Given the description of an element on the screen output the (x, y) to click on. 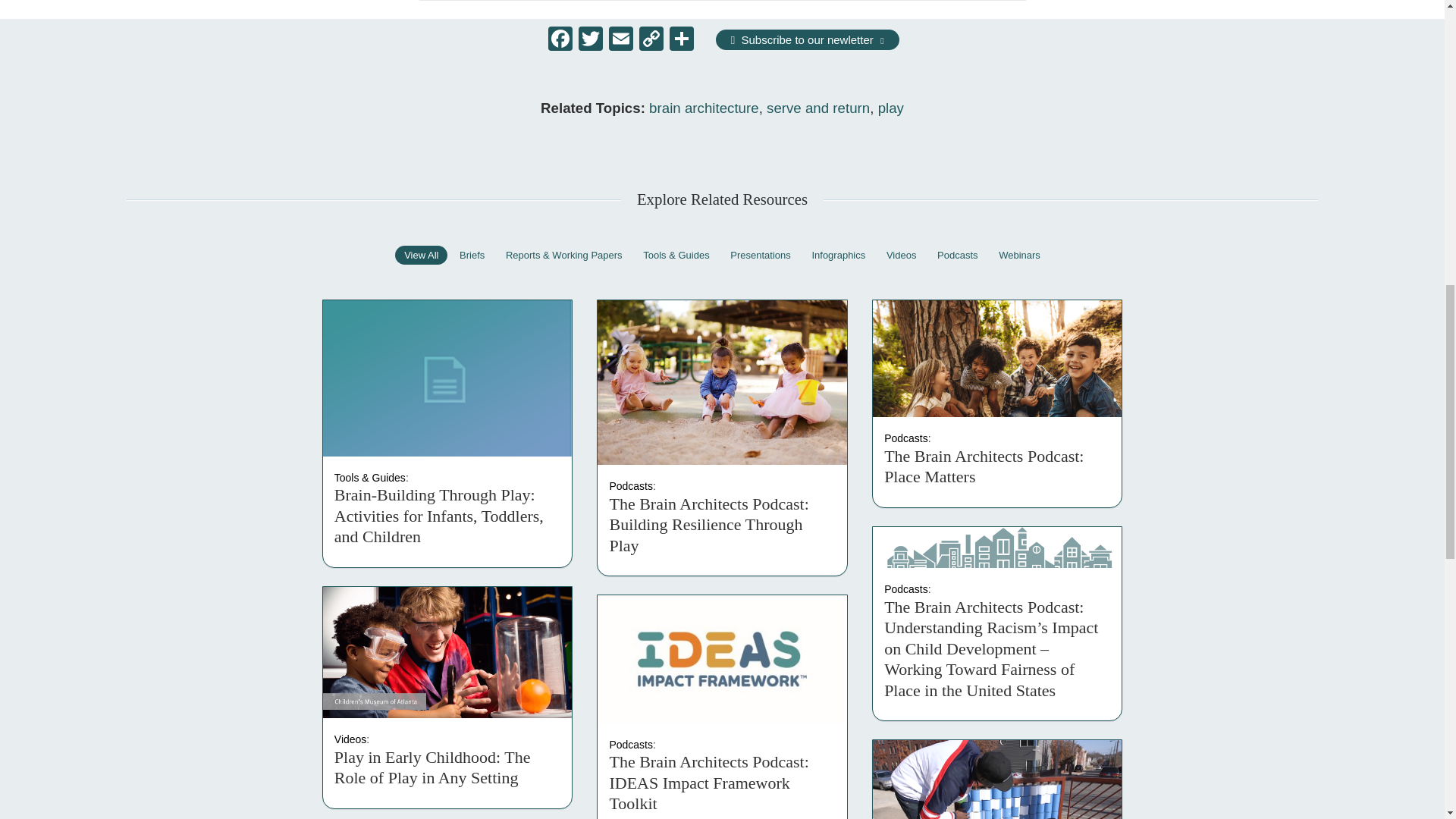
Facebook (559, 40)
Twitter (590, 40)
Copy Link (651, 40)
Email (620, 40)
